Given the description of an element on the screen output the (x, y) to click on. 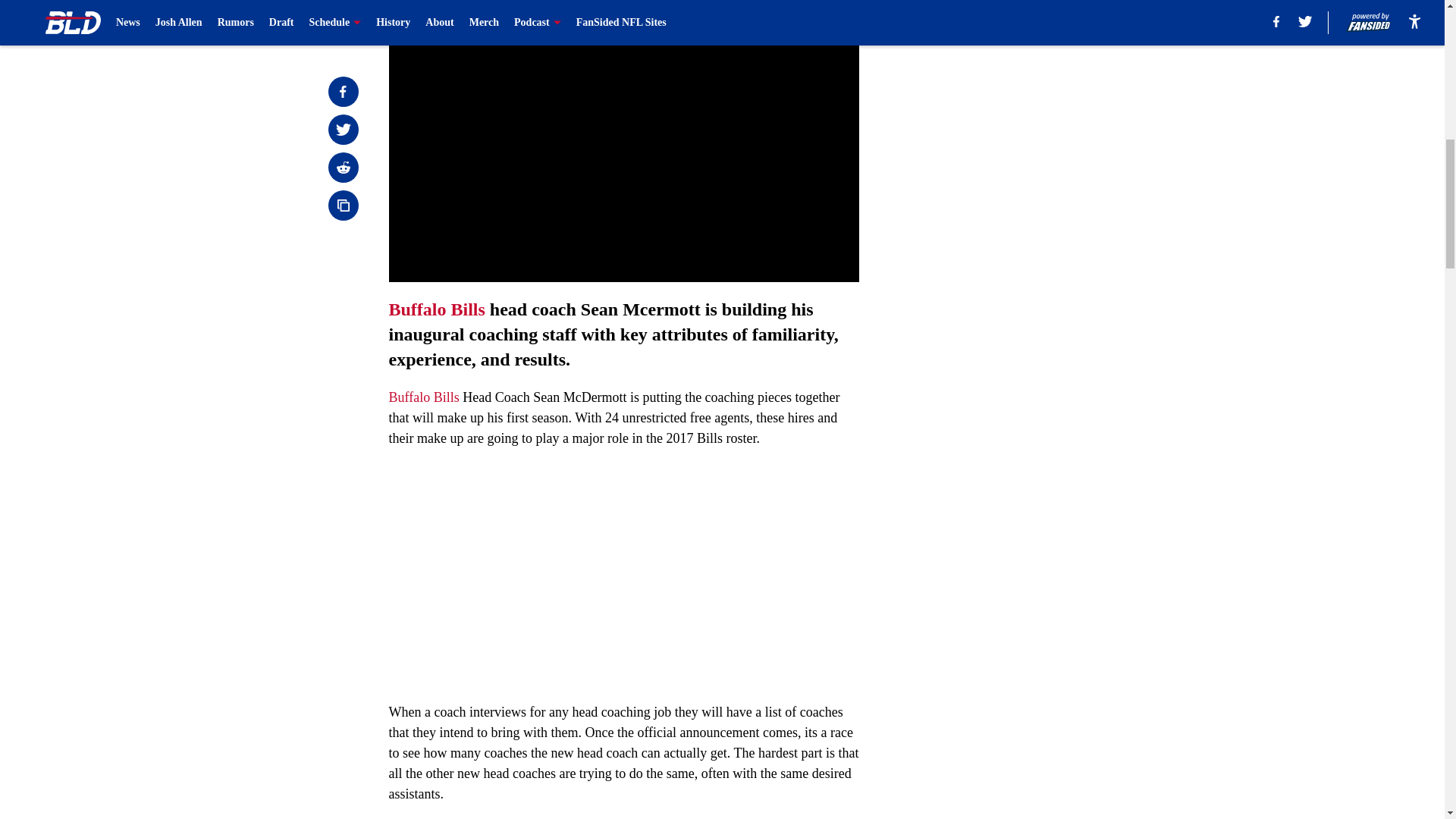
Buffalo Bills (423, 396)
Buffalo Bills (436, 309)
